Given the description of an element on the screen output the (x, y) to click on. 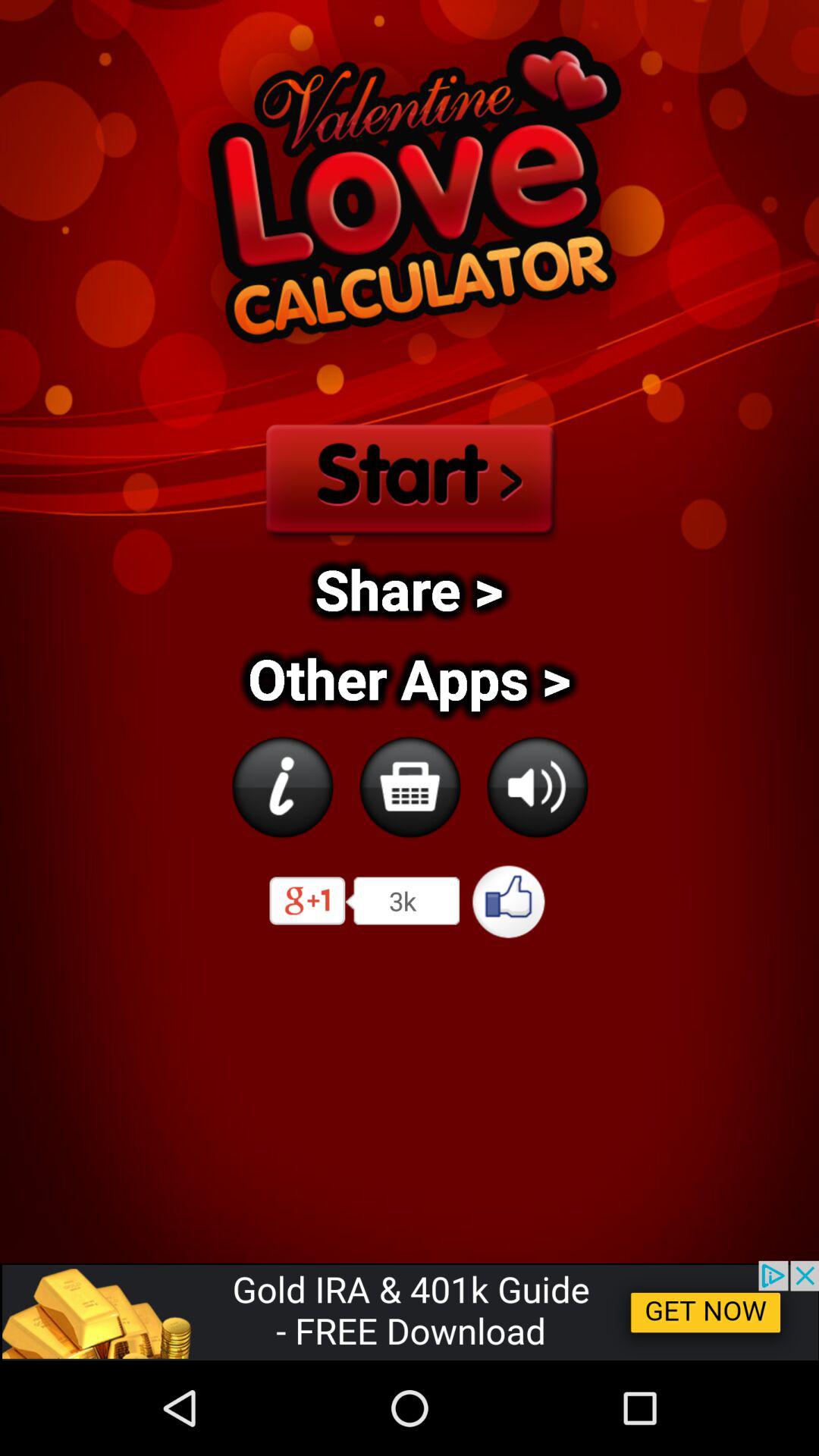
go to store (409, 786)
